Given the description of an element on the screen output the (x, y) to click on. 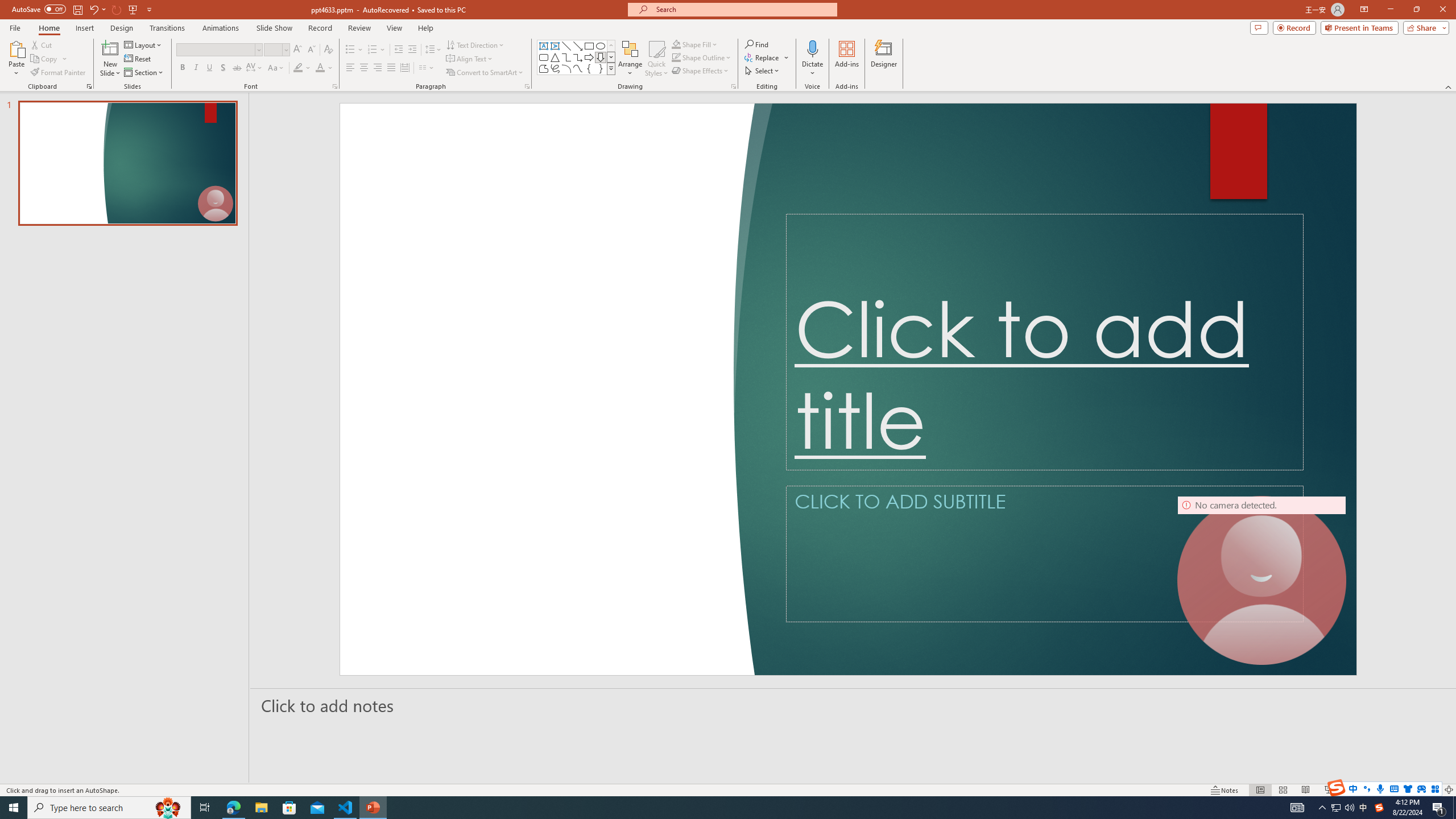
Shape Fill Orange, Accent 2 (675, 44)
